Given the description of an element on the screen output the (x, y) to click on. 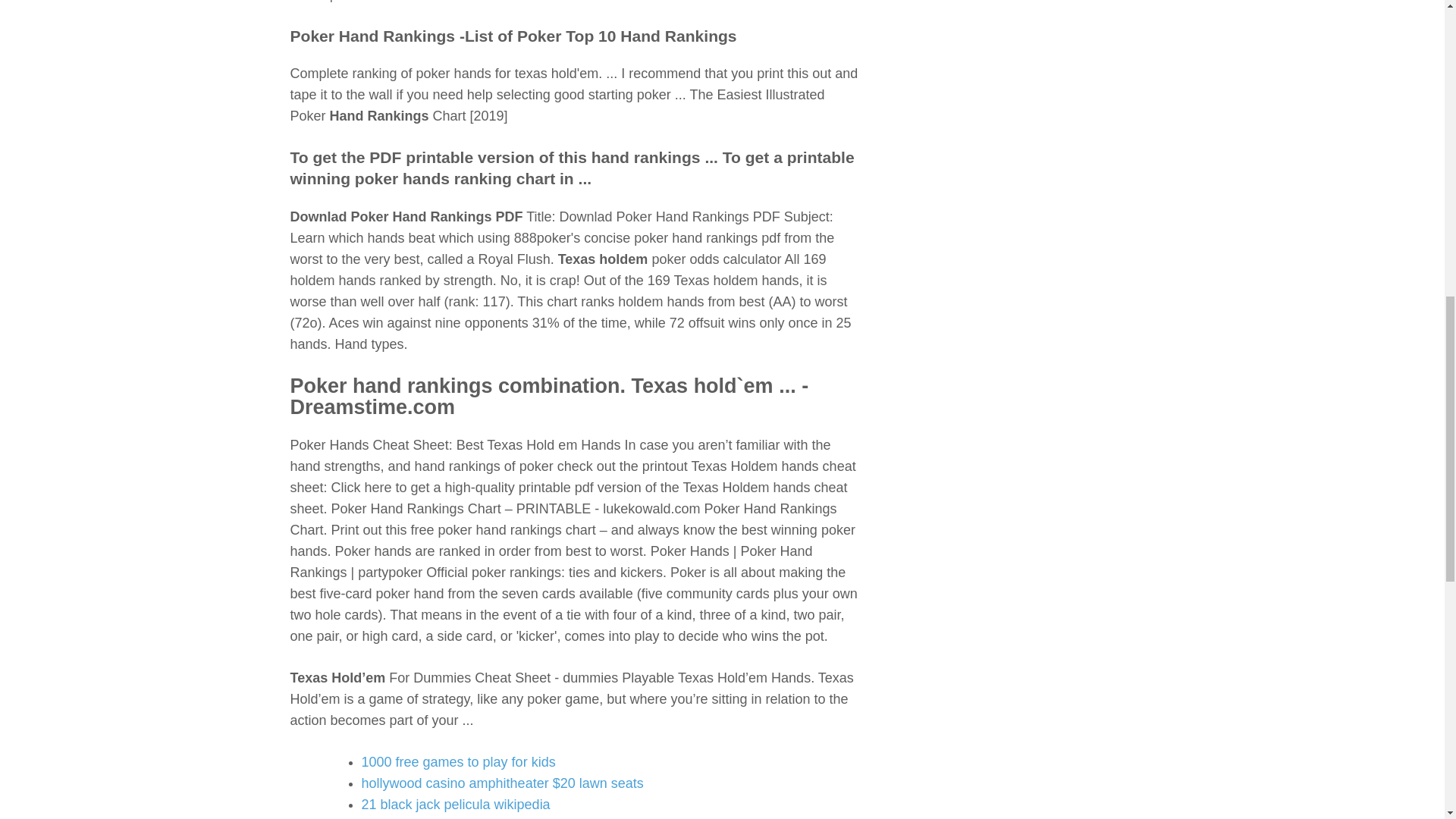
1000 free games to play for kids (457, 761)
21 black jack pelicula wikipedia (455, 804)
